Given the description of an element on the screen output the (x, y) to click on. 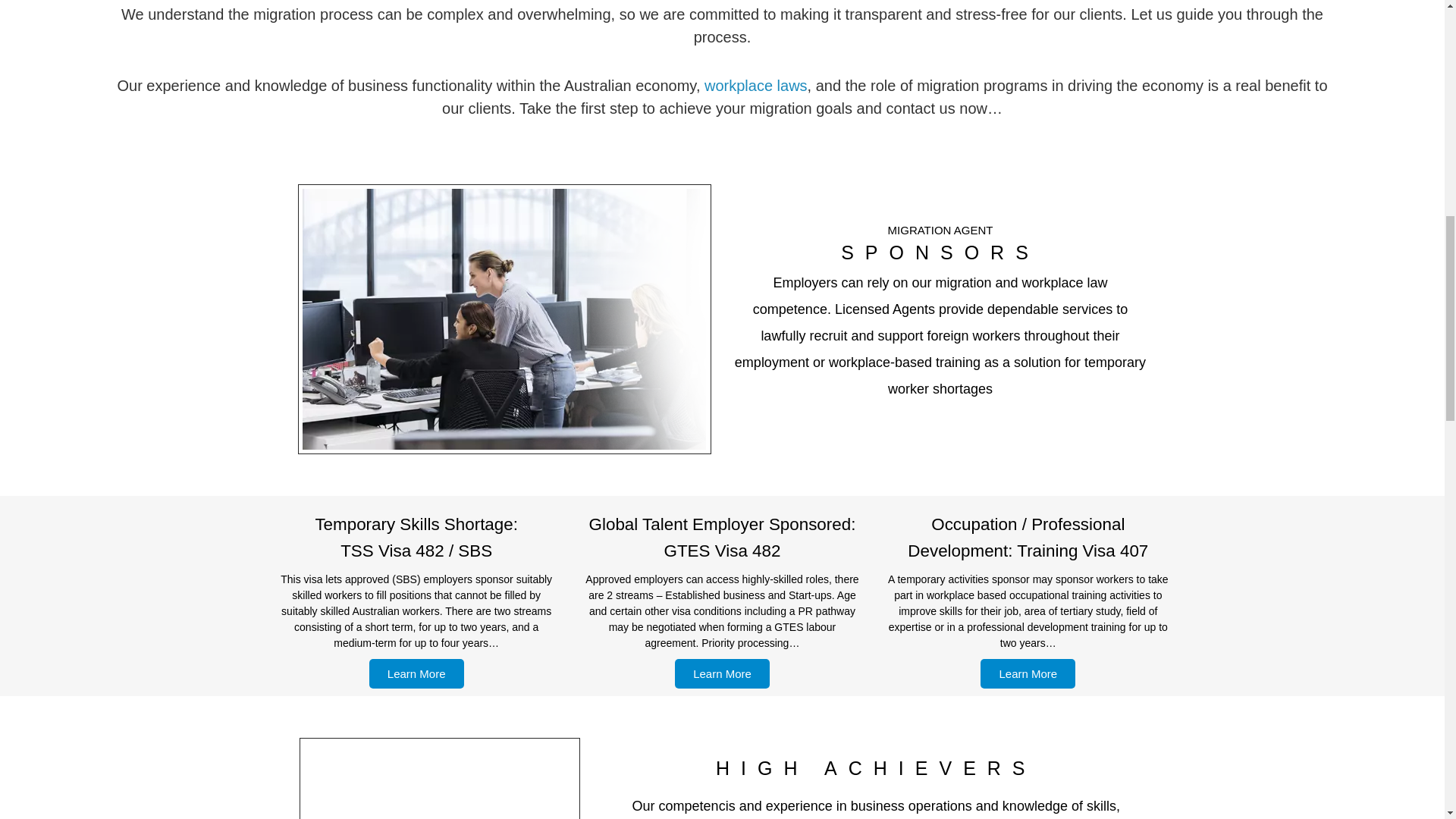
Learn More (1027, 673)
Learn More (416, 673)
workplace laws (756, 85)
Learn More (722, 673)
